Given the description of an element on the screen output the (x, y) to click on. 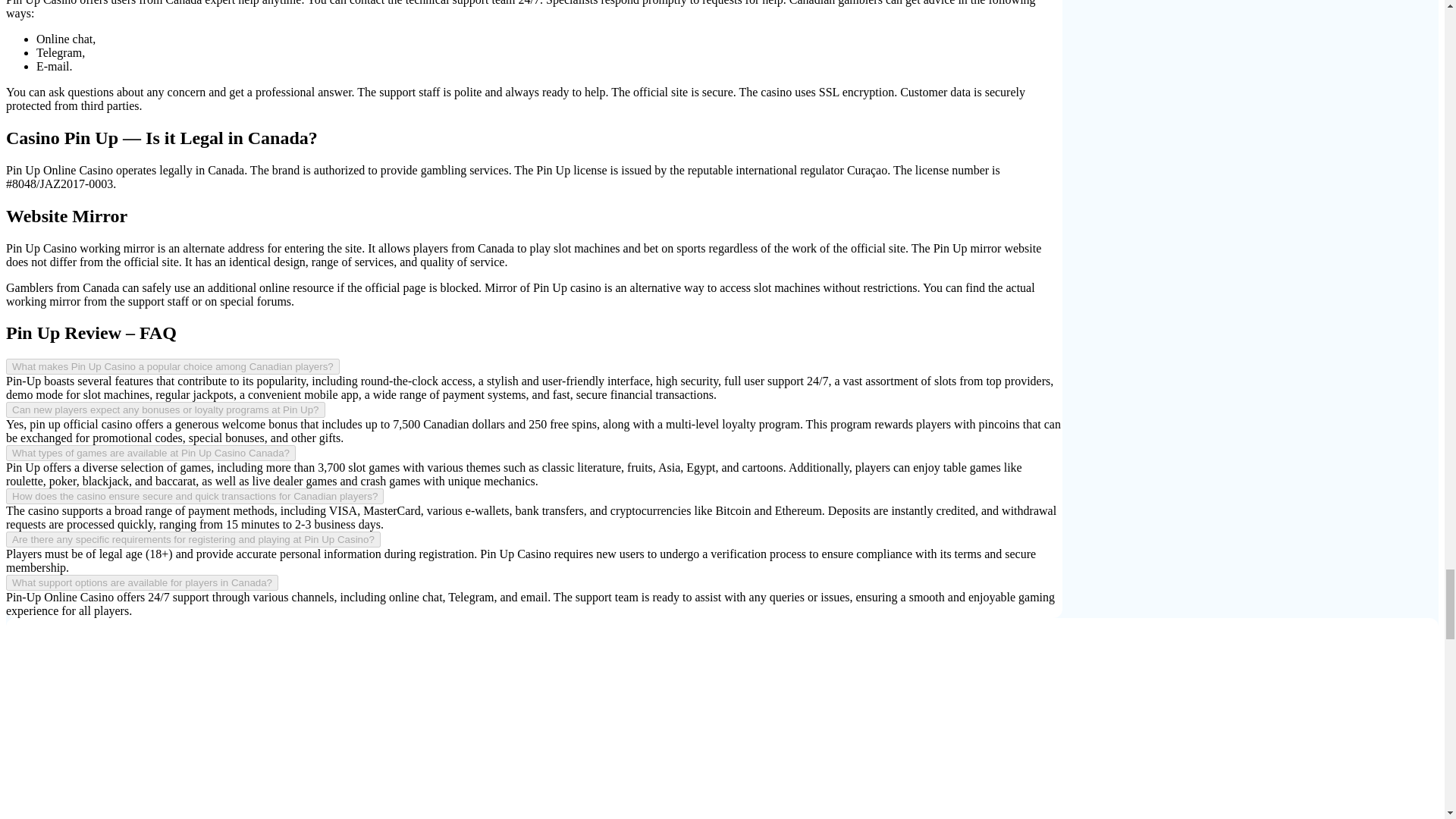
What support options are available for players in Canada? (141, 582)
What types of games are available at Pin Up Casino Canada? (150, 453)
